Given the description of an element on the screen output the (x, y) to click on. 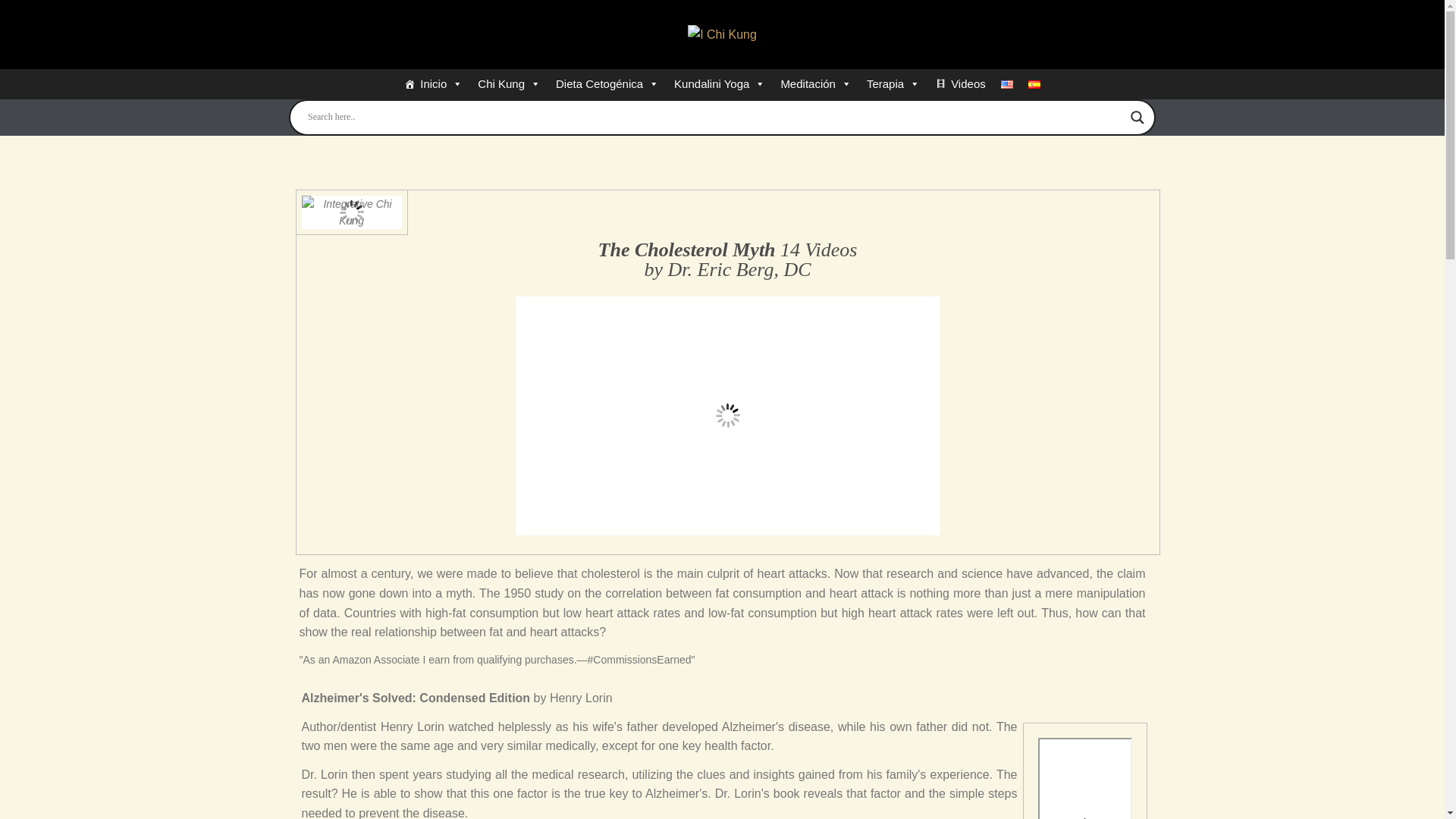
I Chi Kung Institute of Integrative Chi Kung (722, 35)
Videos (959, 83)
Chi Kung (509, 83)
Inicio (433, 83)
Terapia (893, 83)
Kundalini Yoga (719, 83)
